Given the description of an element on the screen output the (x, y) to click on. 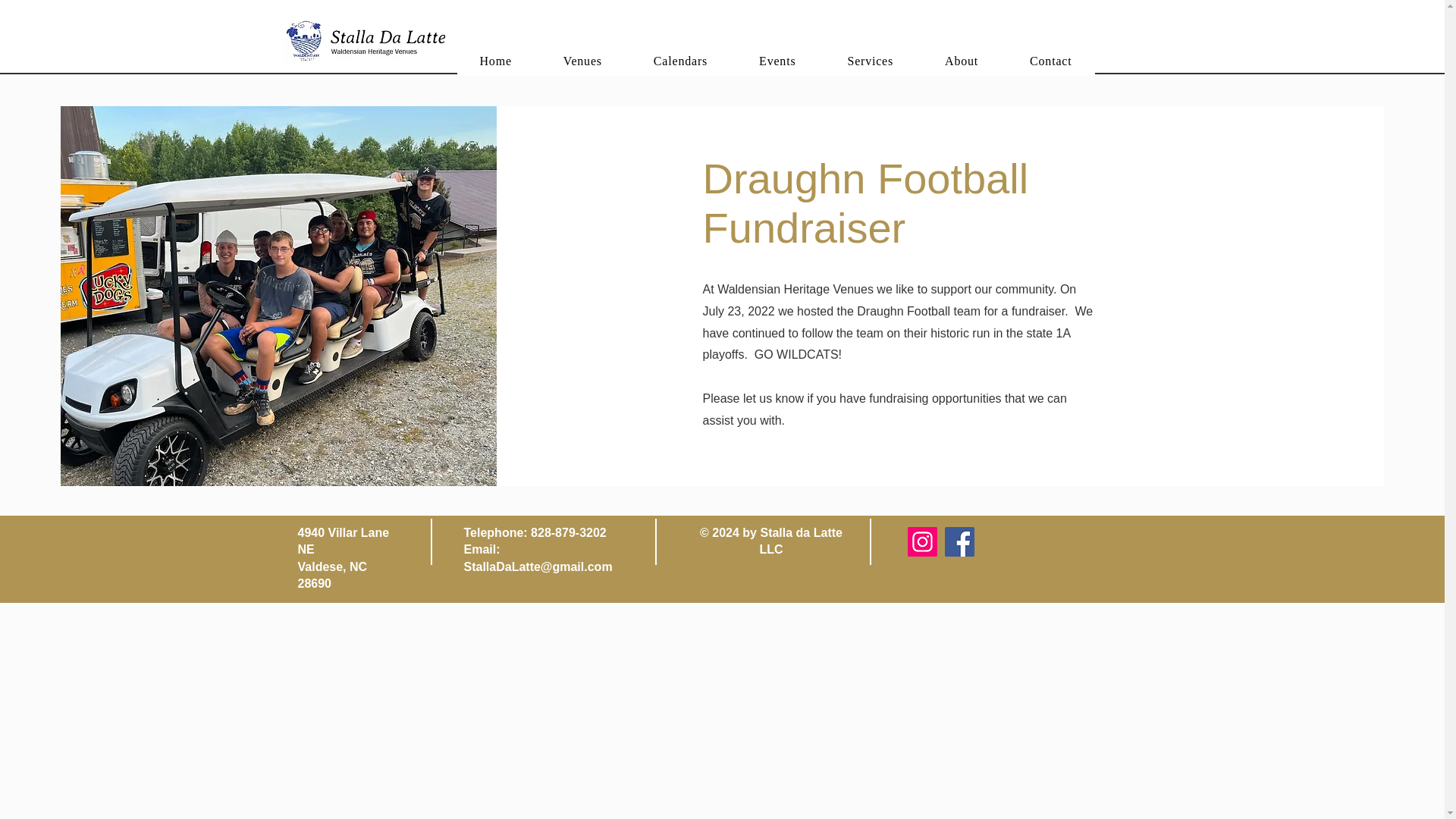
Contact (1050, 61)
Venues (582, 61)
Home (495, 61)
Services (869, 61)
Events (777, 61)
